Given the description of an element on the screen output the (x, y) to click on. 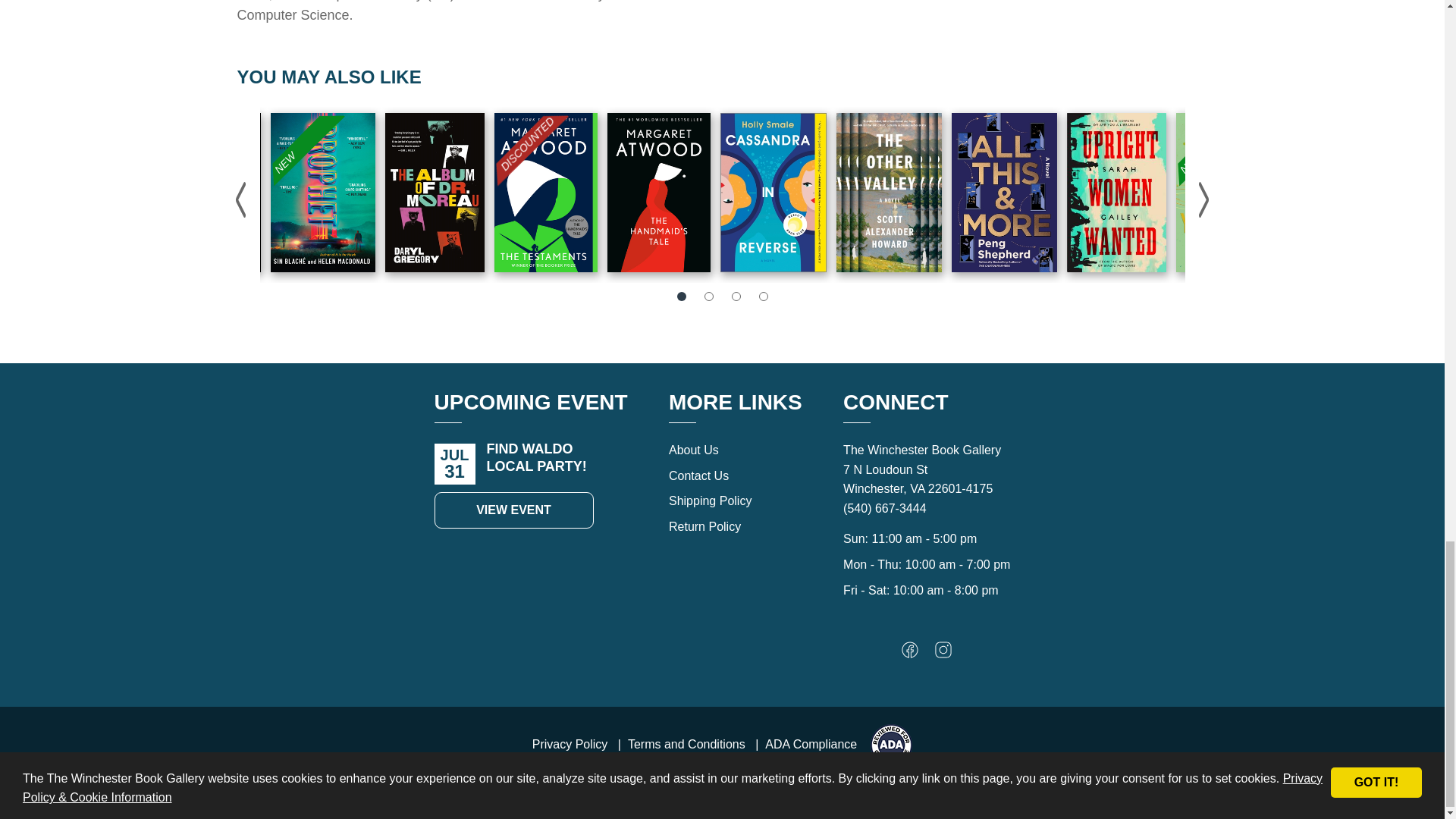
Connect with Facebook (909, 653)
Connect with Instagram (943, 653)
